Given the description of an element on the screen output the (x, y) to click on. 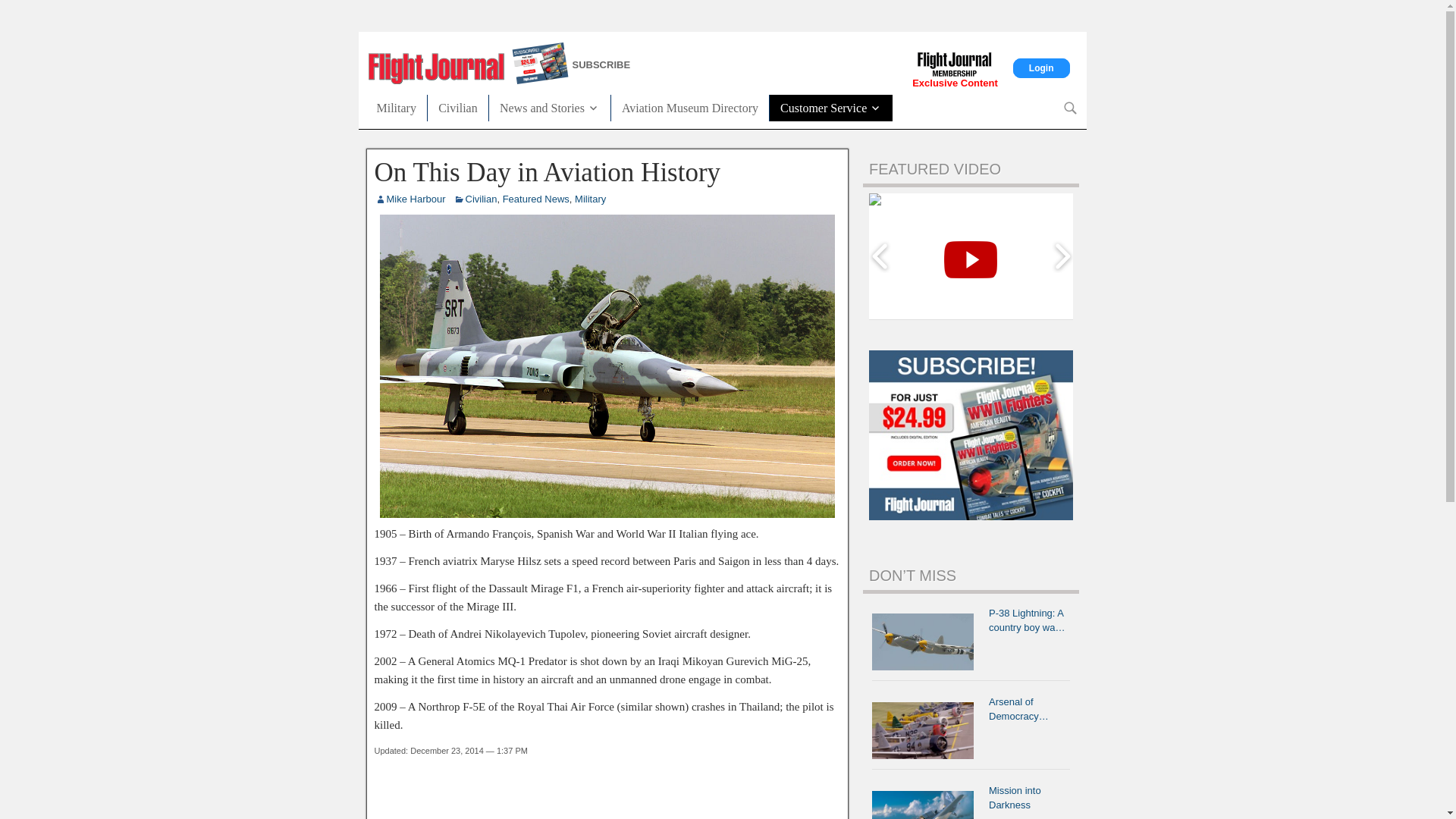
On This Day in Aviation History (606, 514)
Mike Harbour (416, 197)
Military (590, 197)
Civilian (481, 197)
Arsenal of Democracy Flyover (926, 730)
News and Stories (549, 107)
Customer Service (831, 107)
Mission into Darkness (926, 803)
SUBSCRIBE (662, 64)
Featured News (535, 197)
Login (1041, 66)
P-38 Lightning: A country boy way out of his element (926, 641)
Civilian (457, 107)
On This Day in Aviation History (547, 172)
Aviation Museum Directory (689, 107)
